Given the description of an element on the screen output the (x, y) to click on. 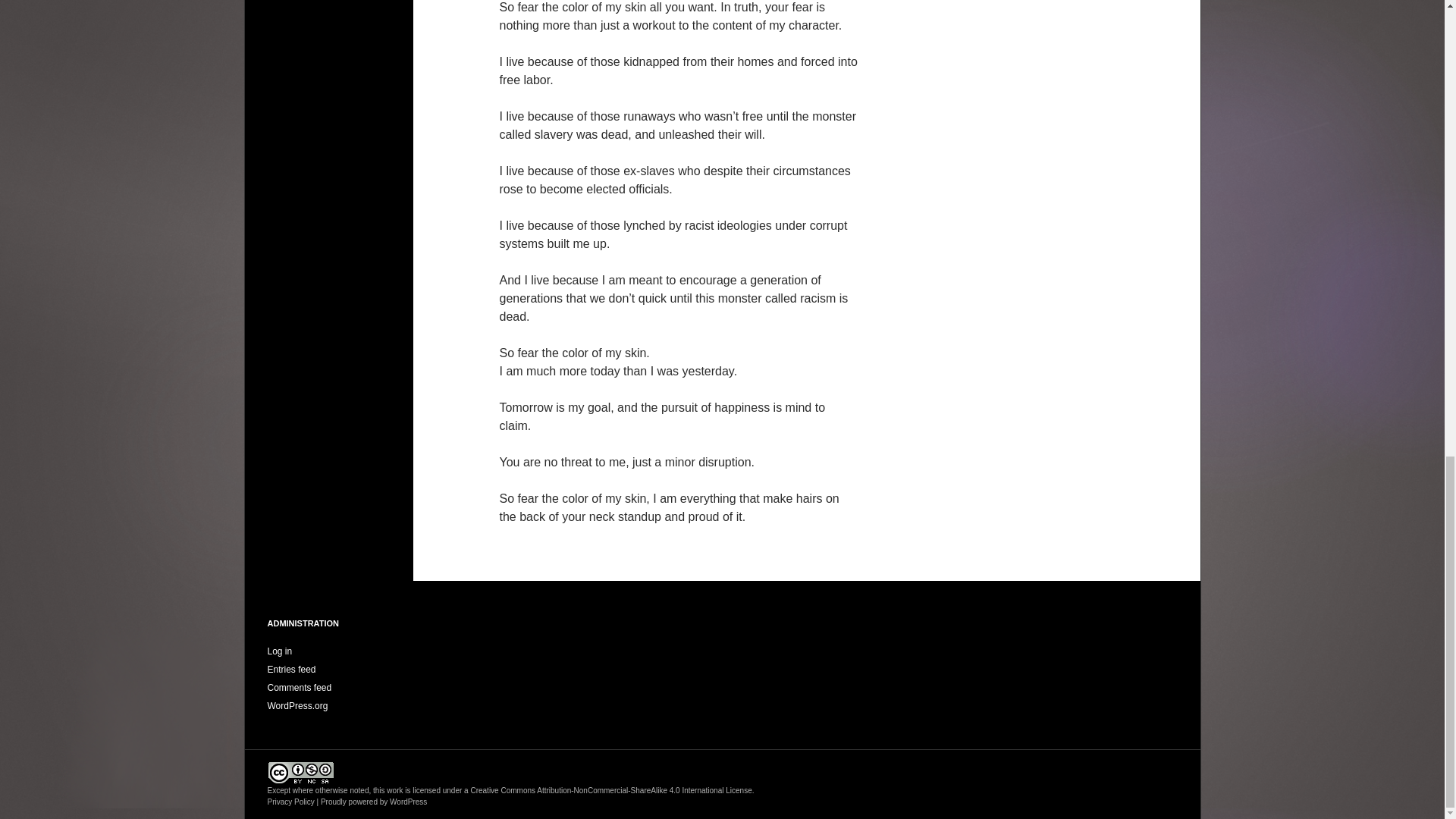
WordPress.org (296, 706)
Entries feed (290, 669)
Privacy Policy (290, 801)
Log in (279, 651)
Comments feed (298, 687)
